Given the description of an element on the screen output the (x, y) to click on. 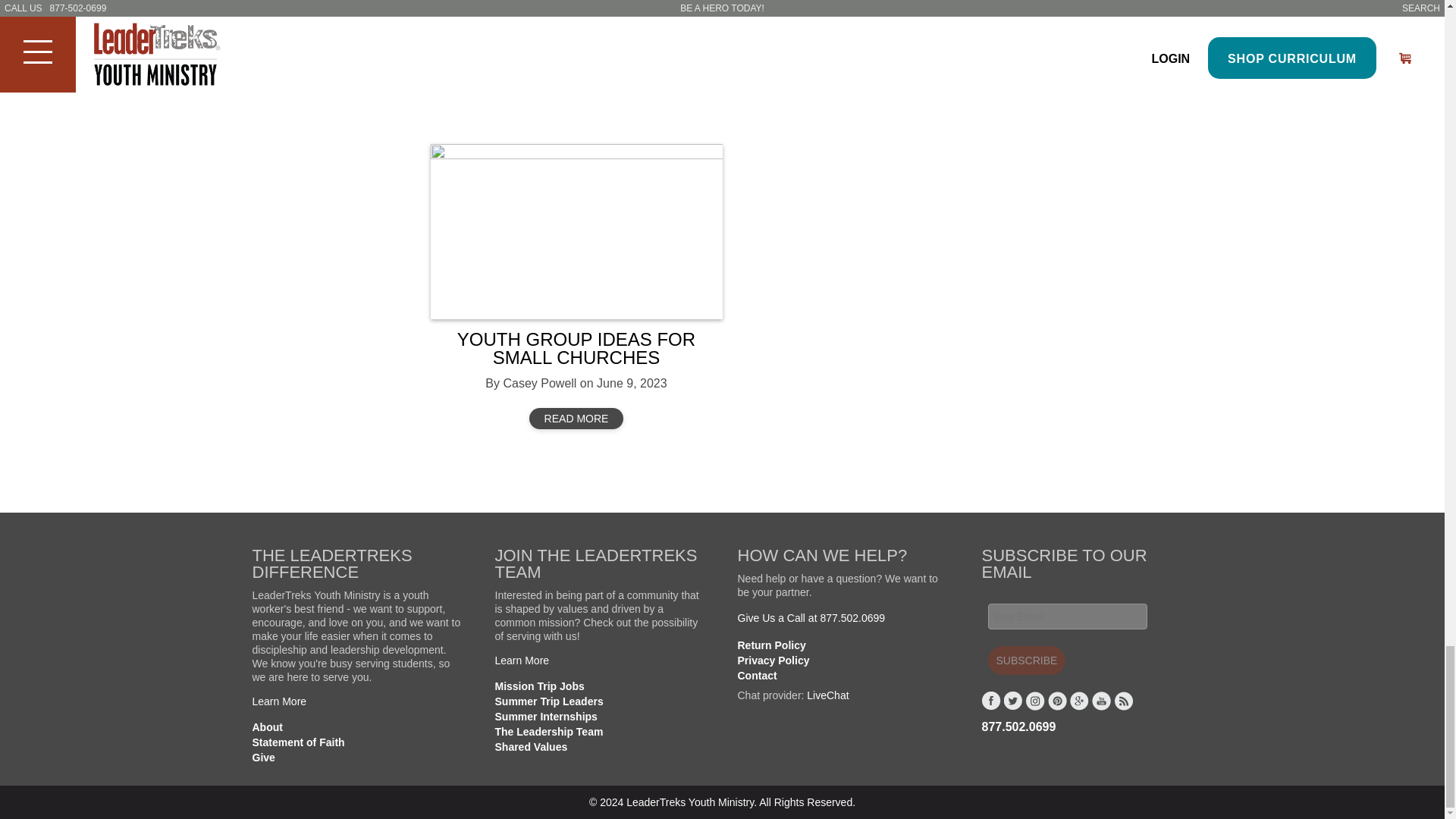
WHAT IS SPIRITUAL MATURITY? (576, 11)
Youth Group Ideas for Small Churches (576, 231)
